Given the description of an element on the screen output the (x, y) to click on. 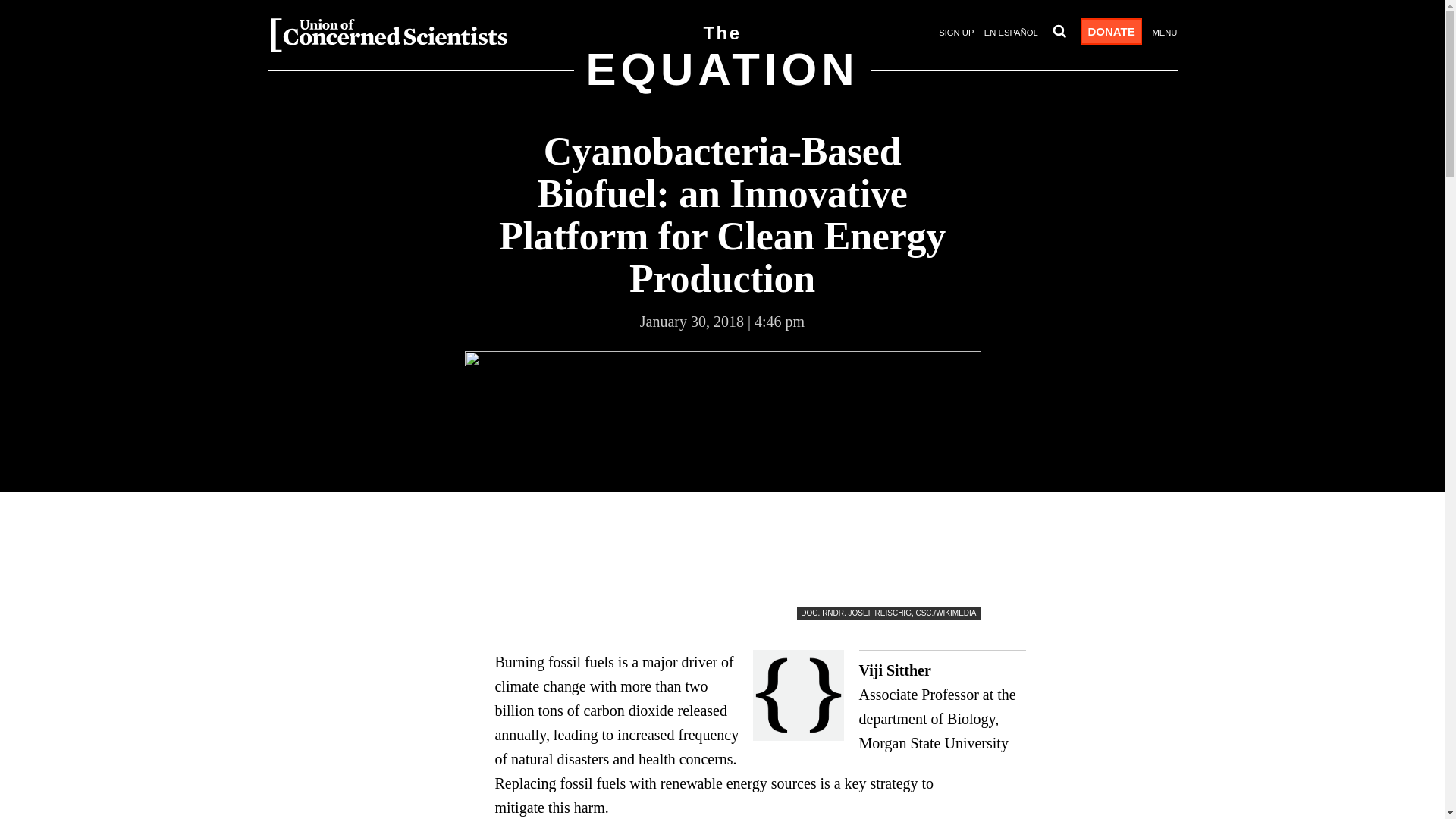
SIGN UP (956, 32)
MENU (1163, 32)
DONATE (721, 80)
